Given the description of an element on the screen output the (x, y) to click on. 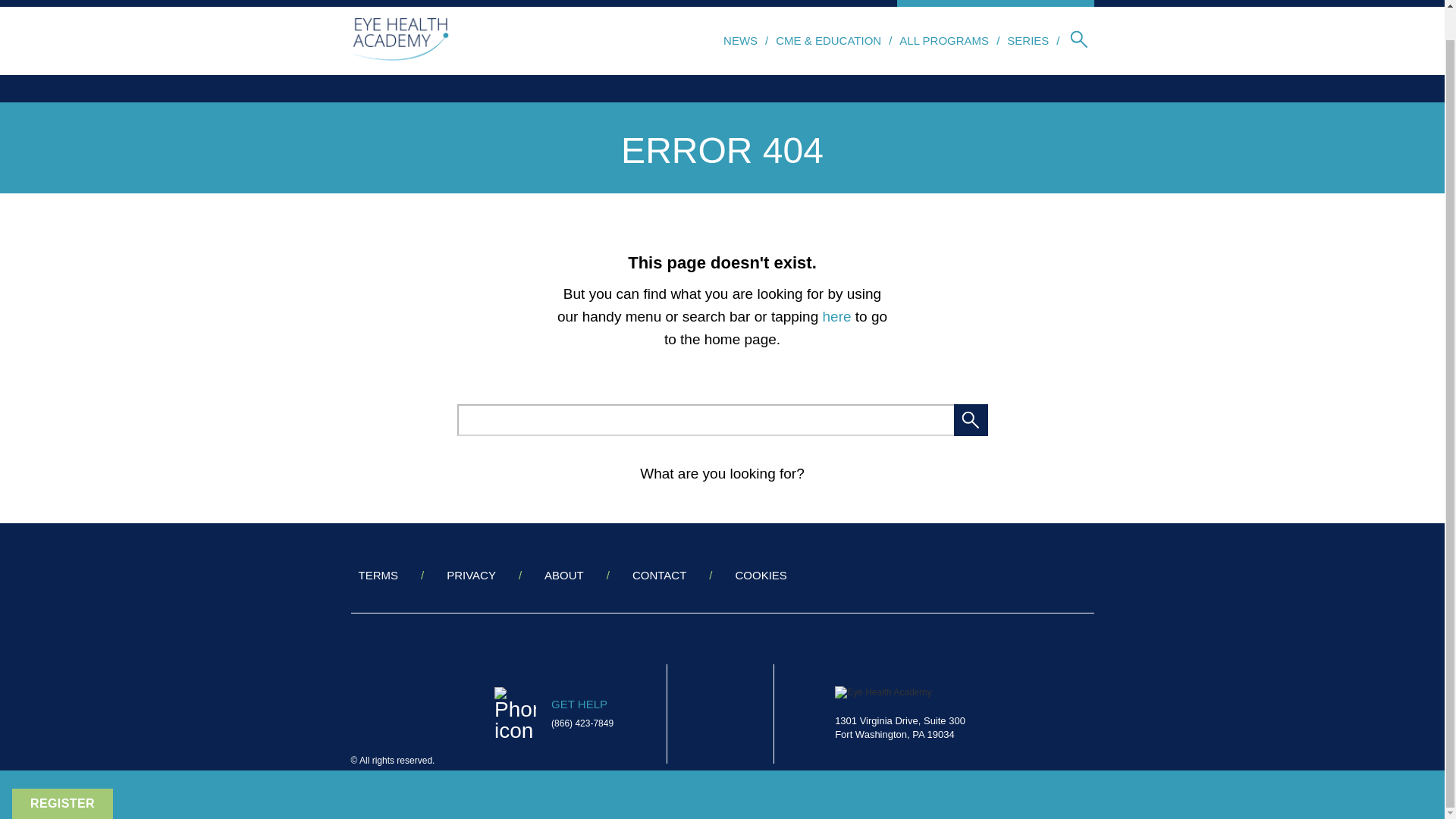
CREATE AN ACCOUNT (1026, 3)
here (836, 316)
SERIES (1027, 40)
ALL PROGRAMS (943, 40)
Eye Health Academy (882, 692)
LOG IN (927, 3)
Eye Health Academy (399, 40)
NEWS (740, 40)
Phone icon (515, 714)
Eye Health Academy (899, 714)
